Given the description of an element on the screen output the (x, y) to click on. 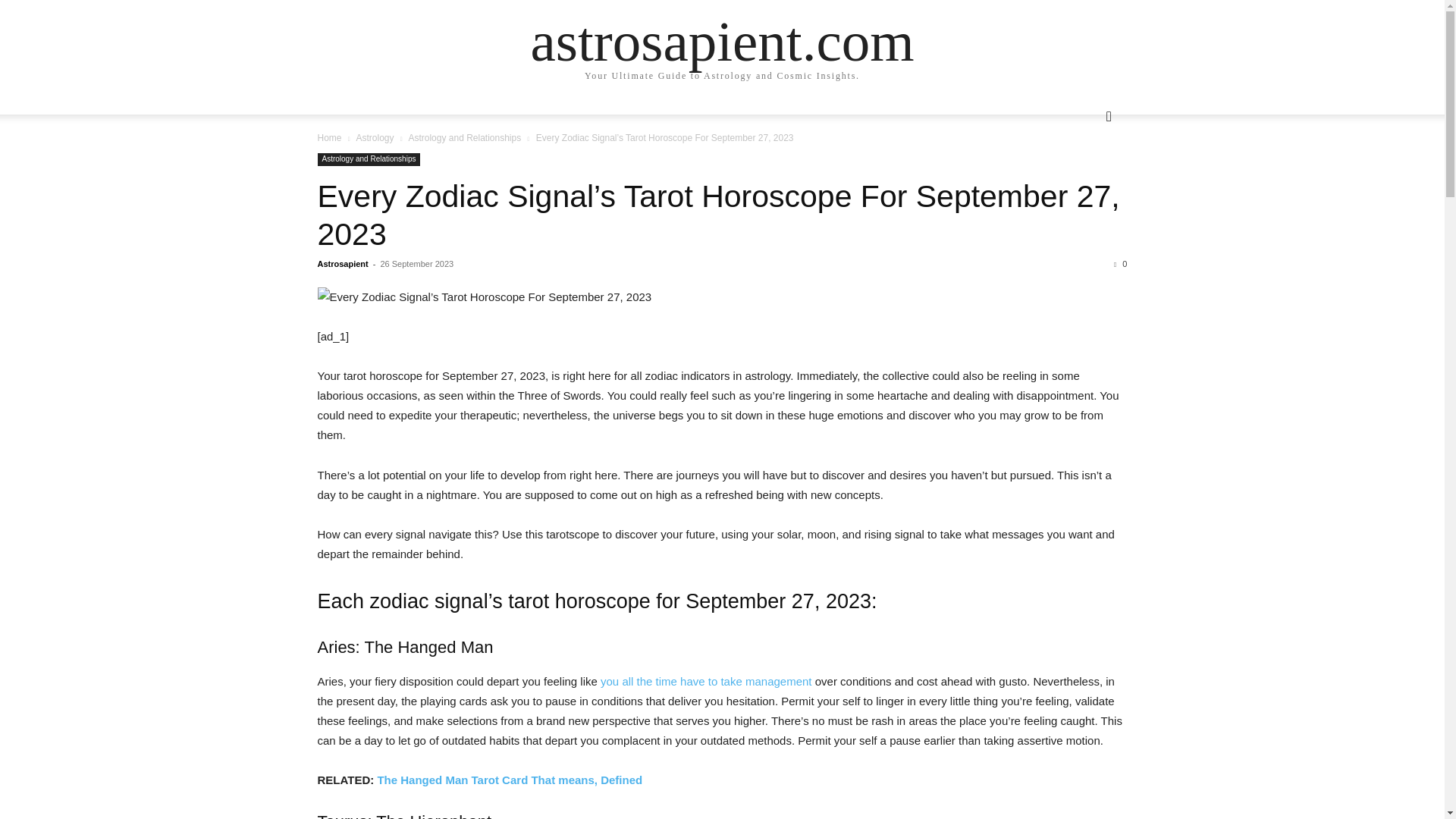
Astrology (374, 137)
0 (1119, 263)
Search (1085, 177)
View all posts in Astrology and Relationships (464, 137)
Astrology and Relationships (368, 159)
Astrosapient (342, 263)
Home (328, 137)
astrosapient.com (721, 41)
View all posts in Astrology (374, 137)
The Hanged Man Tarot Card That means, Defined (509, 779)
Astrology and Relationships (464, 137)
you all the time have to take management (705, 680)
